Given the description of an element on the screen output the (x, y) to click on. 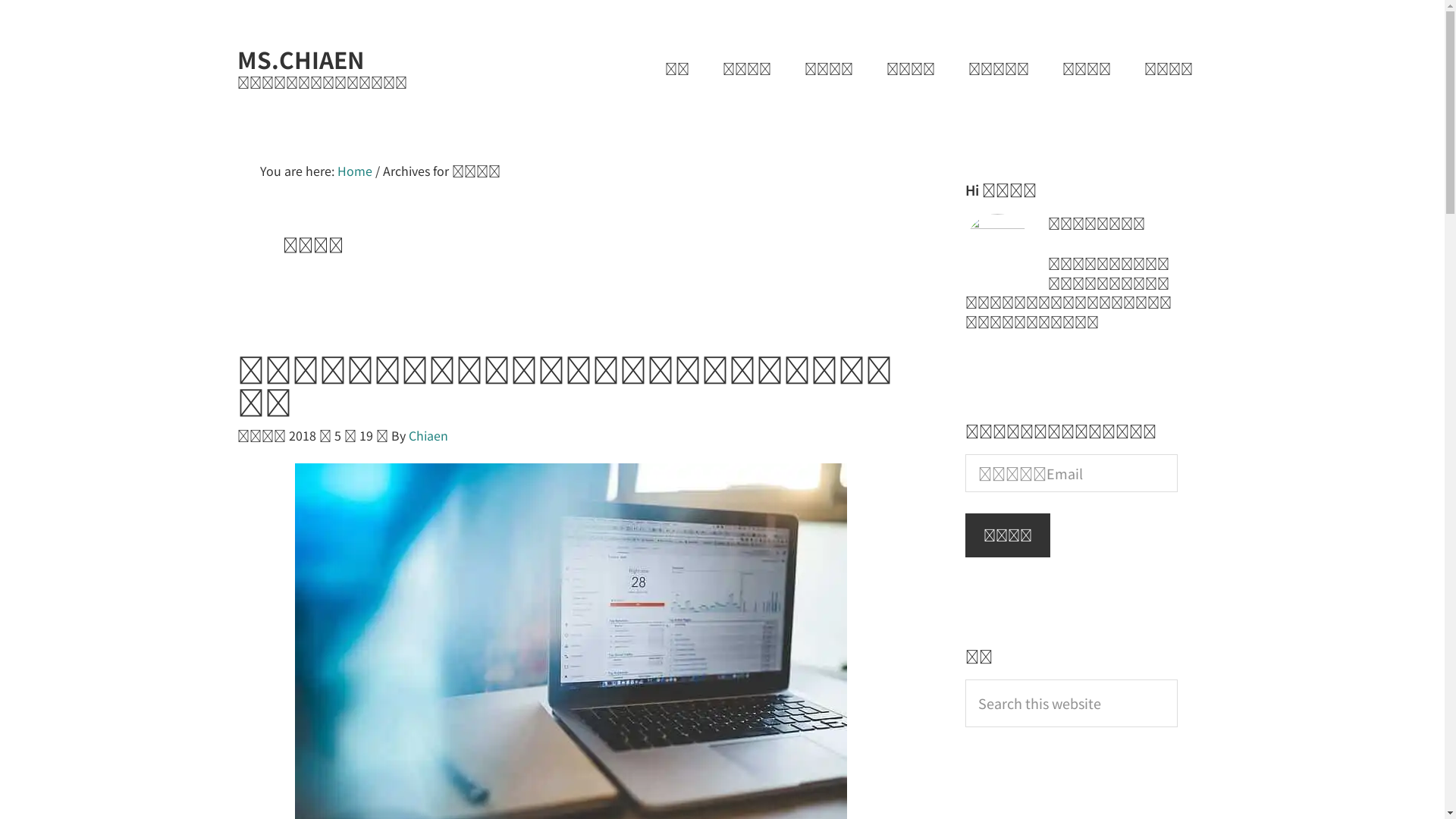
Search Element type: text (1176, 678)
Home Element type: text (353, 170)
Chiaen Element type: text (427, 435)
MS.CHIAEN Element type: text (299, 58)
Skip to main content Element type: text (15, 0)
